Given the description of an element on the screen output the (x, y) to click on. 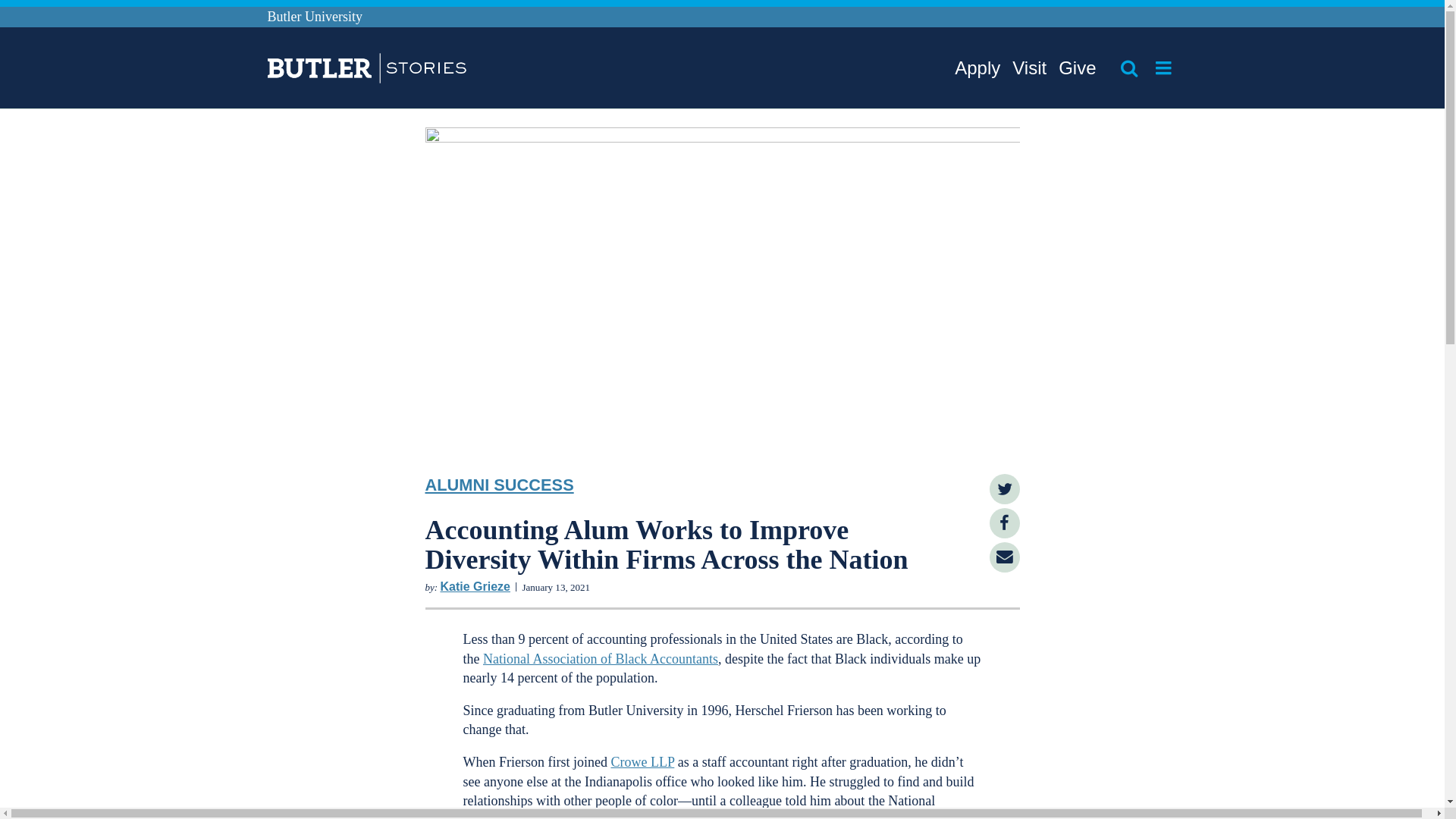
Give (1077, 68)
Butler University (313, 16)
Stories (344, 69)
Visit (1028, 68)
Apply (977, 68)
